Given the description of an element on the screen output the (x, y) to click on. 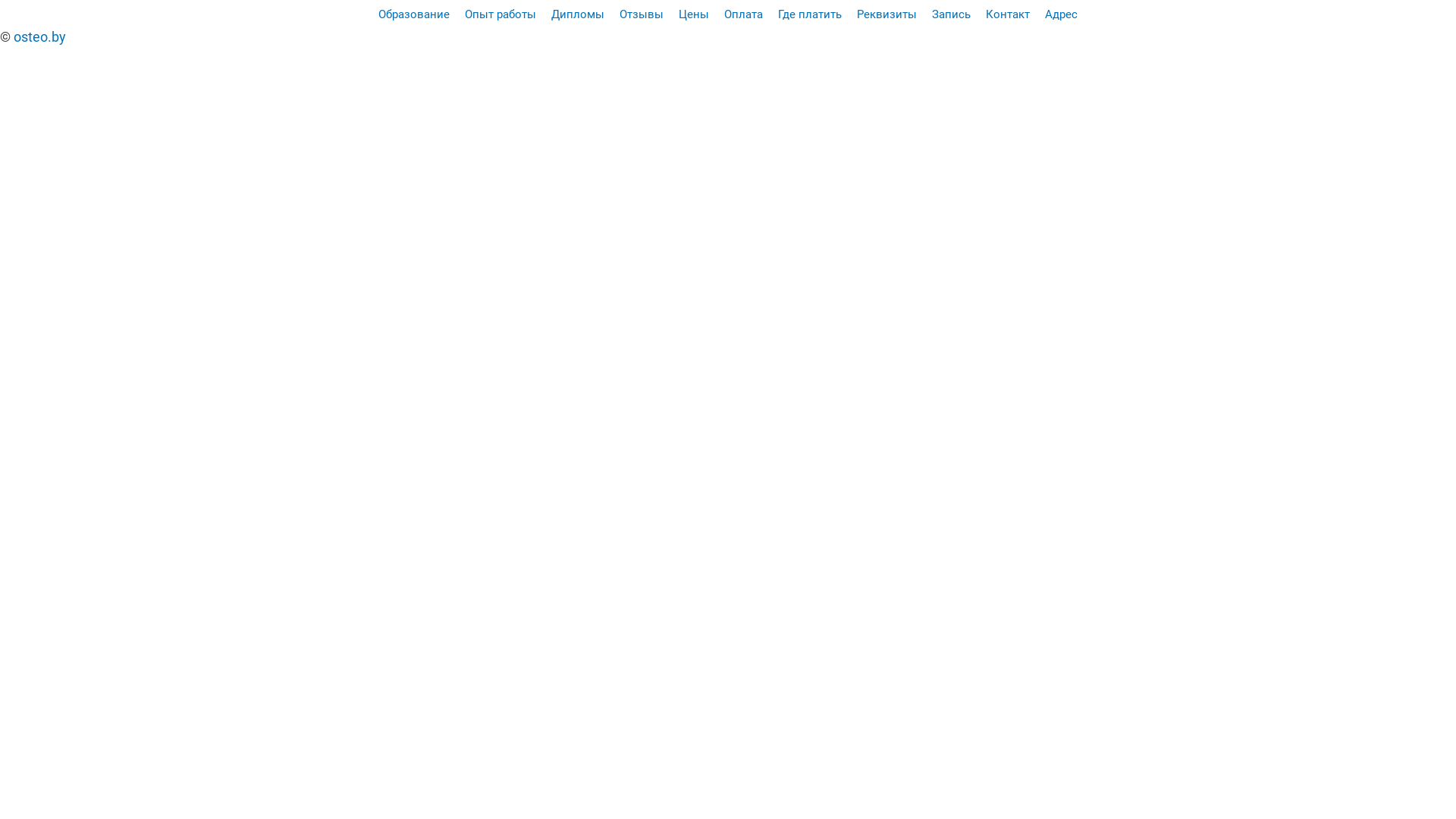
osteo.by Element type: text (39, 36)
